Given the description of an element on the screen output the (x, y) to click on. 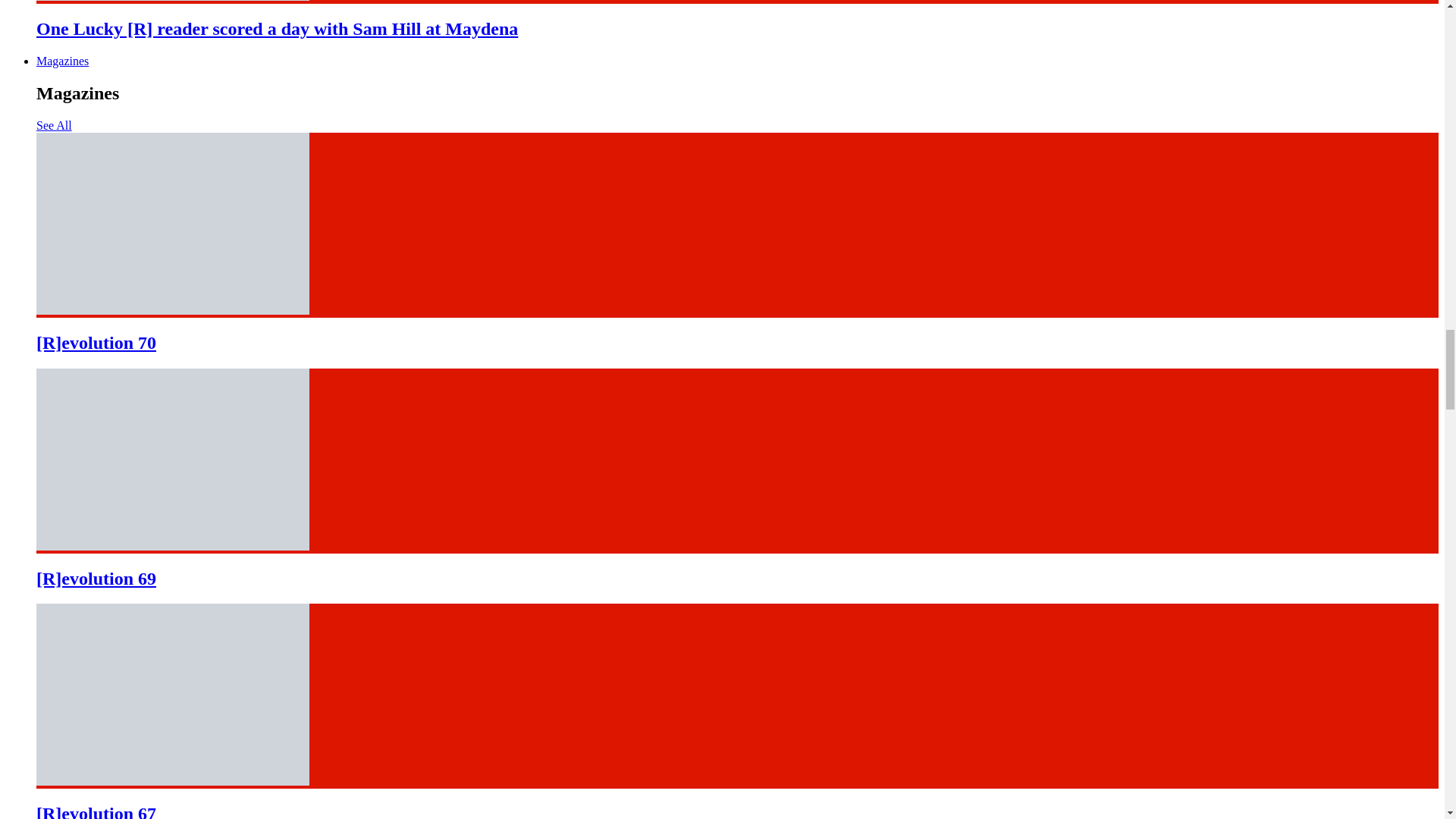
Magazines (62, 60)
See All (53, 124)
